Given the description of an element on the screen output the (x, y) to click on. 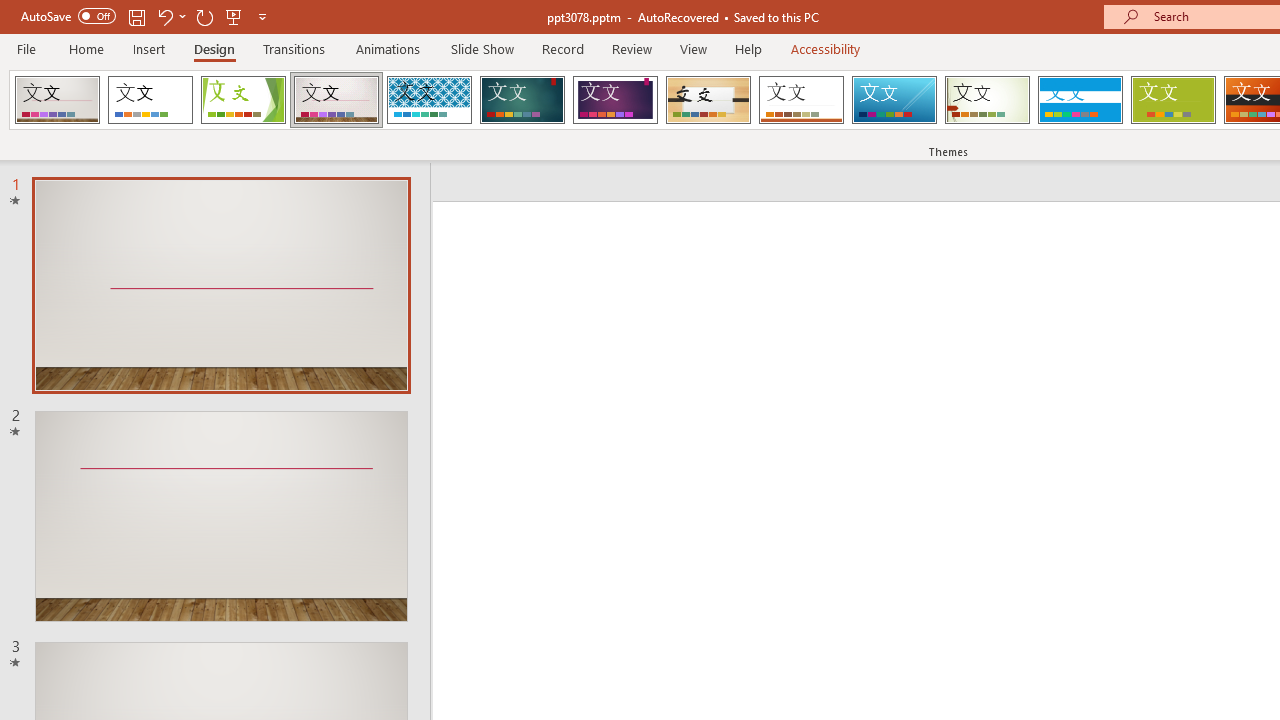
Banded (1080, 100)
Office Theme (150, 100)
Retrospect (801, 100)
Integral (429, 100)
Slice (893, 100)
